Given the description of an element on the screen output the (x, y) to click on. 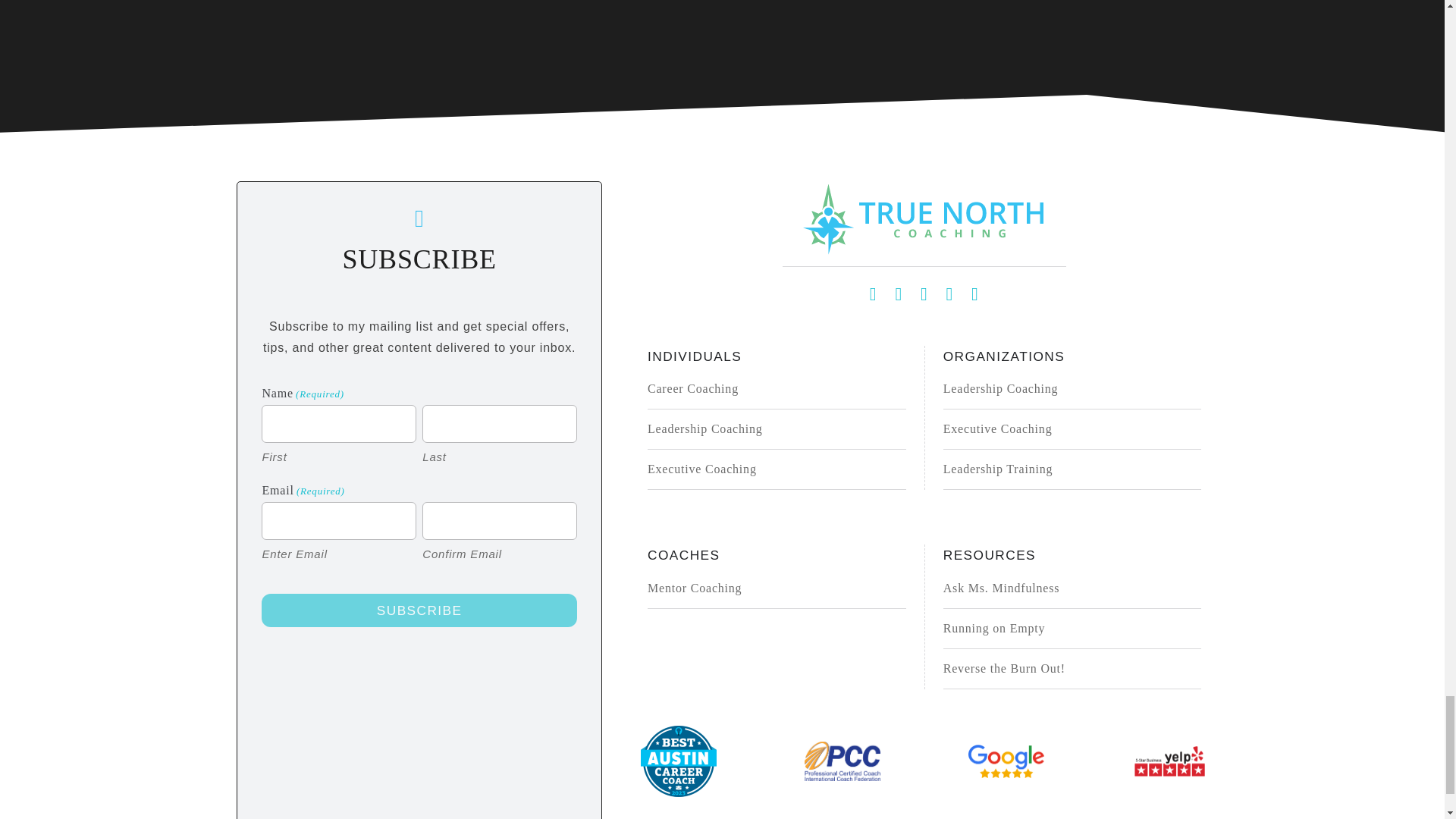
Subscribe (419, 610)
